Given the description of an element on the screen output the (x, y) to click on. 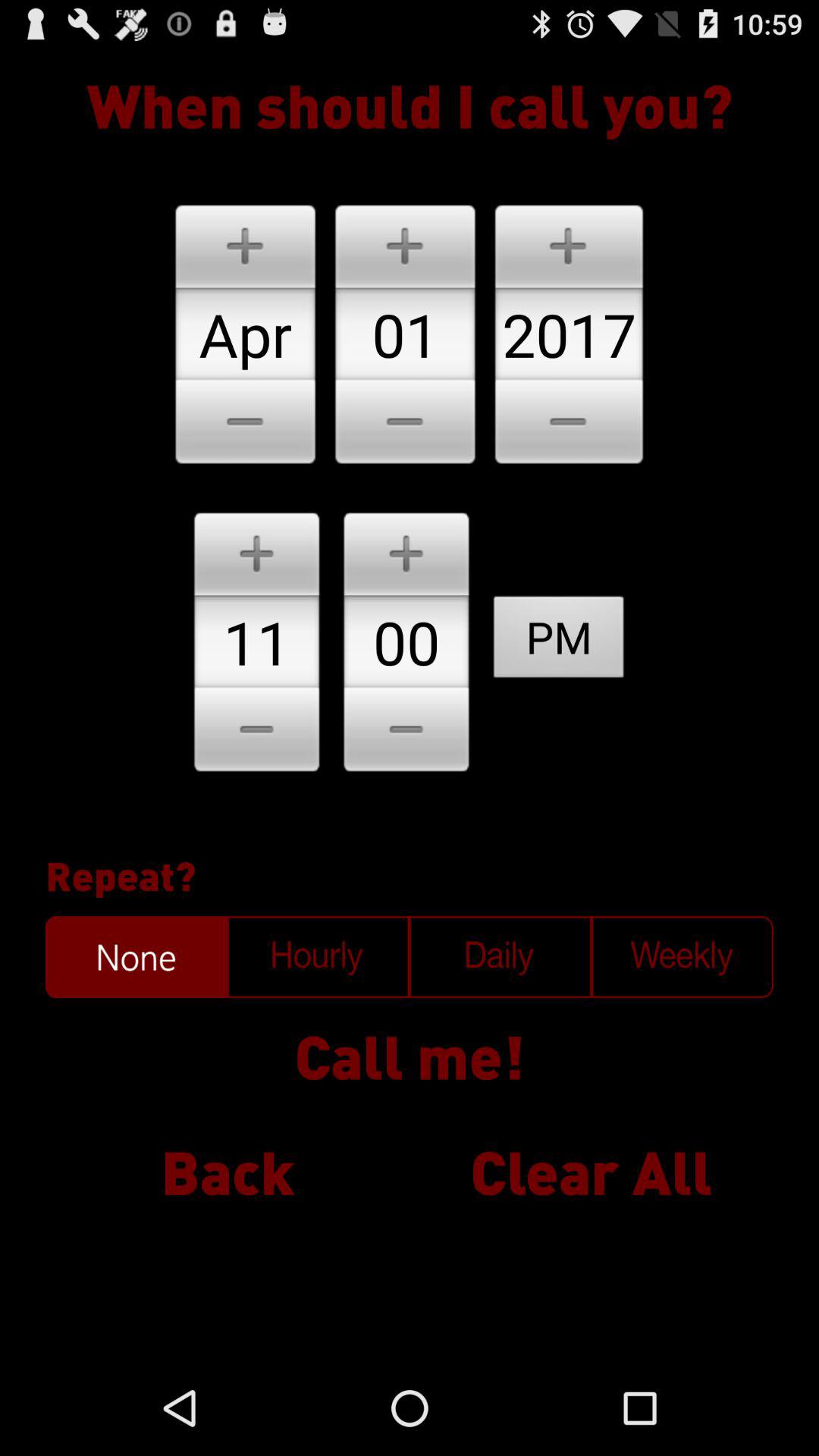
do not repeat (136, 957)
